Given the description of an element on the screen output the (x, y) to click on. 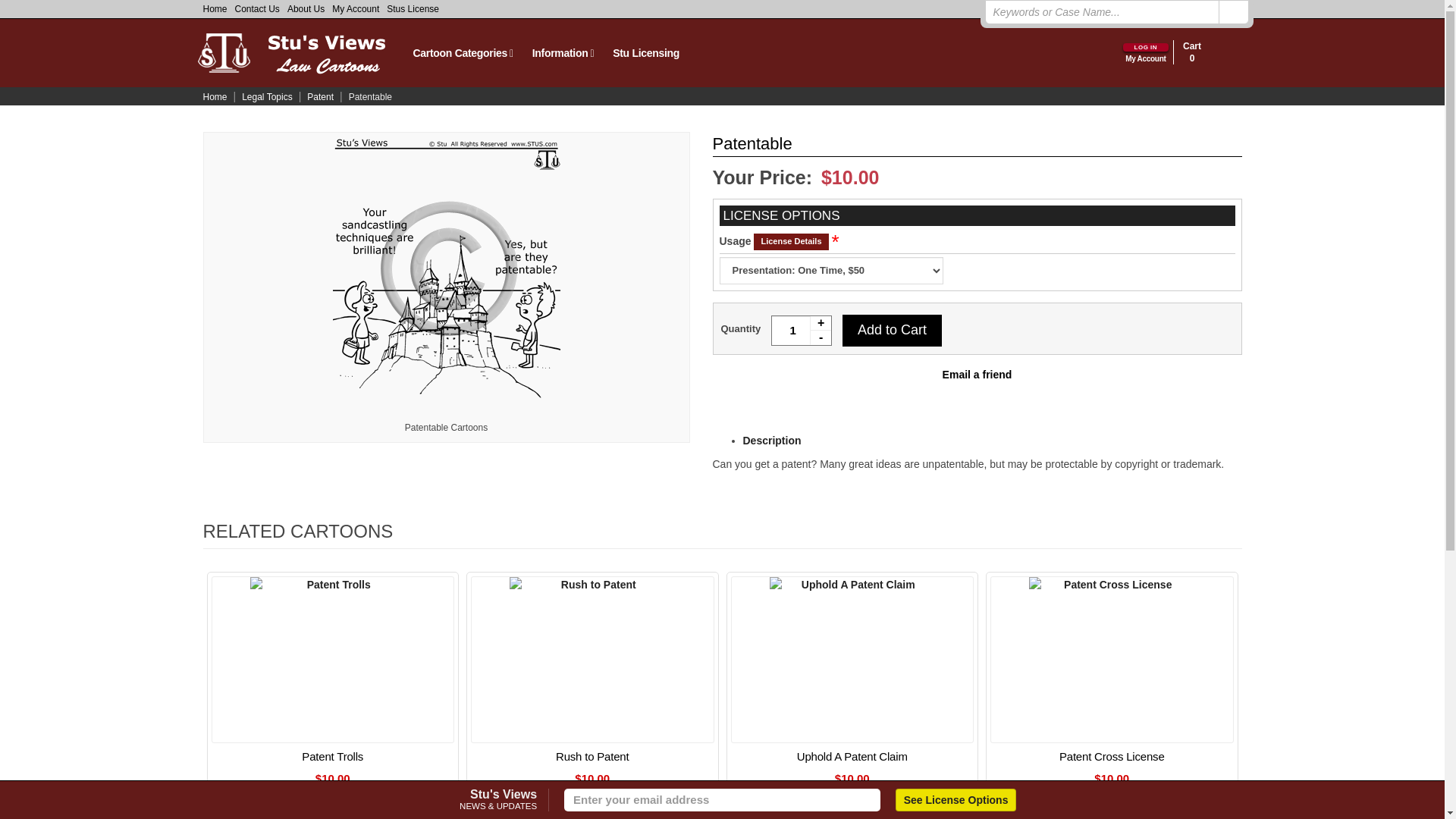
My Account (355, 9)
1 (801, 330)
Patentable Cartoons  (445, 427)
Cartoon Categories (461, 52)
Home (217, 9)
License Options (955, 799)
Stus License (412, 9)
Search Our Store (1232, 11)
Patentable Cartoons  (445, 268)
Contact Us (257, 9)
modal (791, 241)
About Us (306, 9)
